Given the description of an element on the screen output the (x, y) to click on. 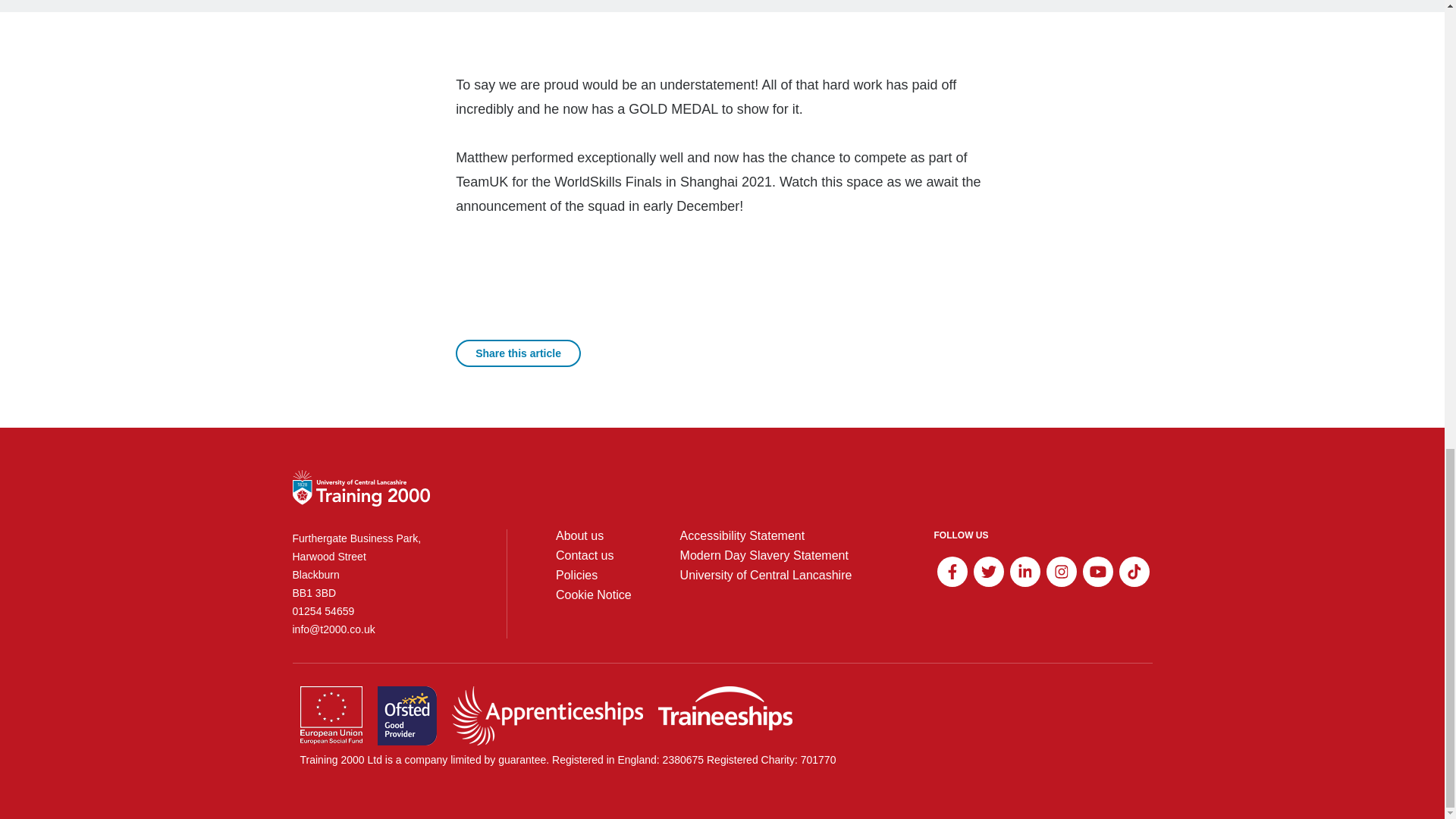
University of Central Lancashire (765, 574)
Cookie Notice (593, 594)
Accessibility Statement (742, 535)
Share this article (517, 352)
Modern Day Slavery Statement (763, 554)
Contact us (584, 554)
About us (580, 535)
Policies (576, 574)
01254 54659 (375, 610)
